Given the description of an element on the screen output the (x, y) to click on. 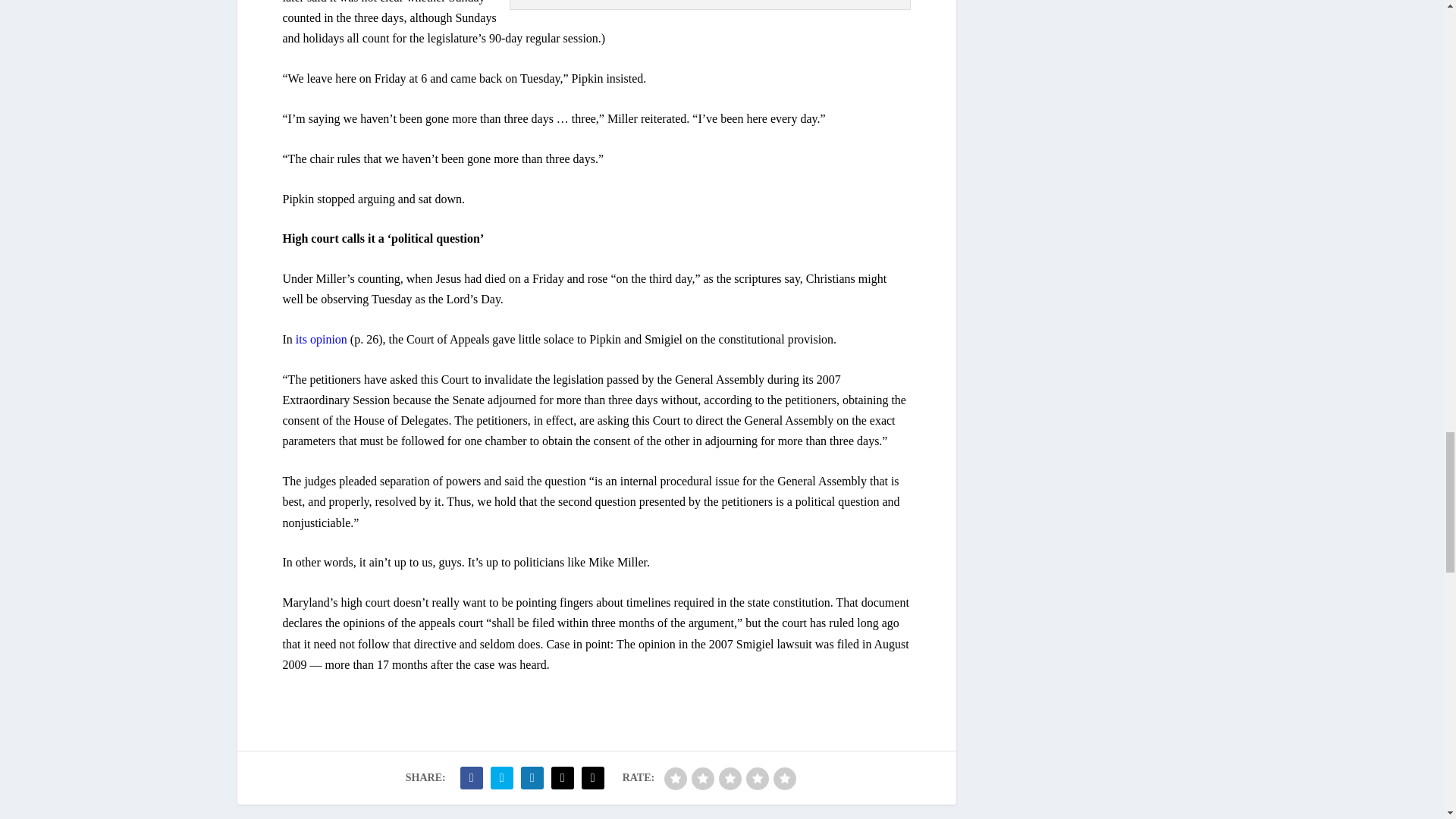
bad (675, 778)
gorgeous (784, 778)
poor (702, 778)
regular (730, 778)
good (756, 778)
its opinion (319, 338)
